Given the description of an element on the screen output the (x, y) to click on. 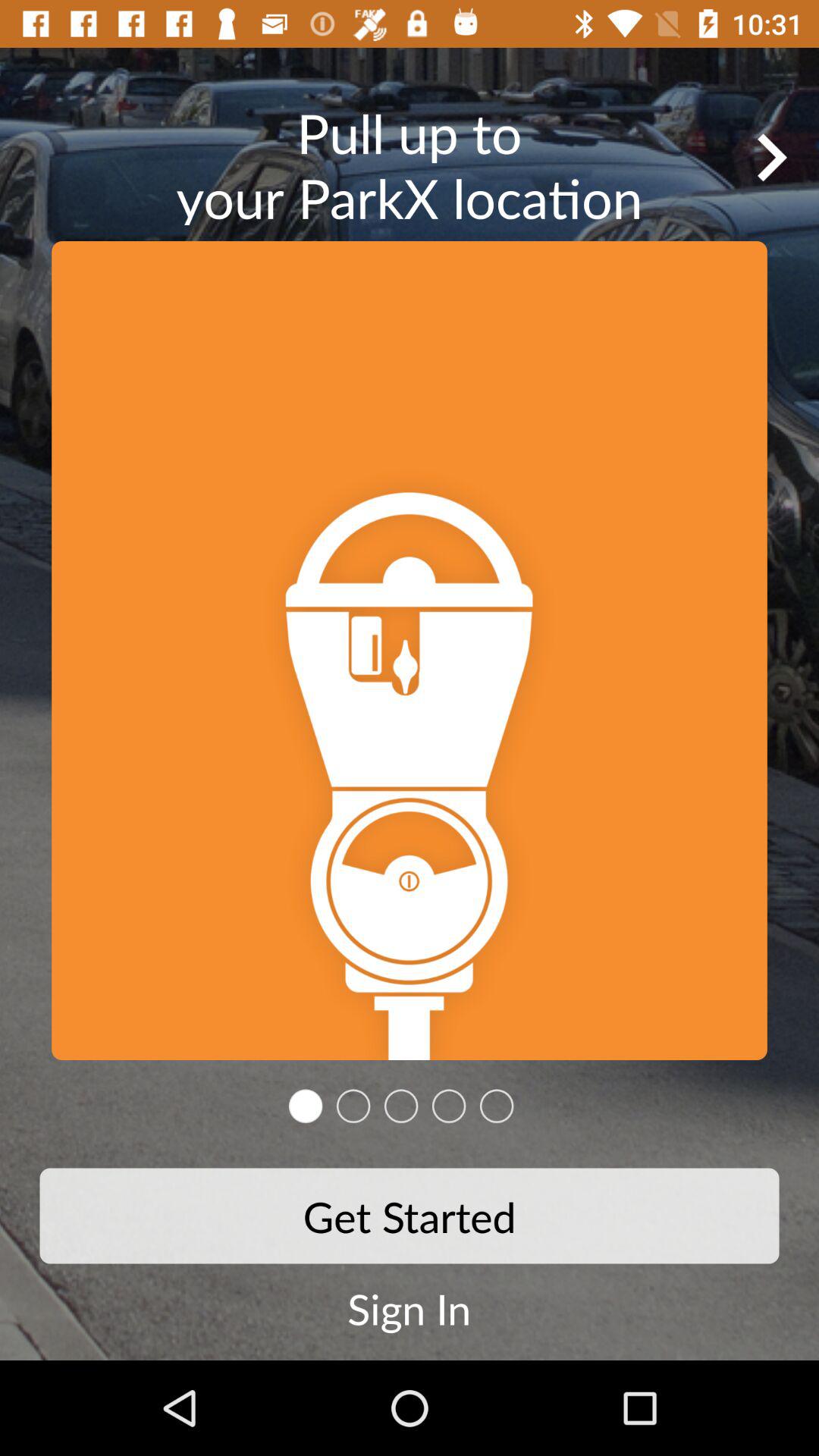
click on arrow to be taken to another page (771, 157)
